Given the description of an element on the screen output the (x, y) to click on. 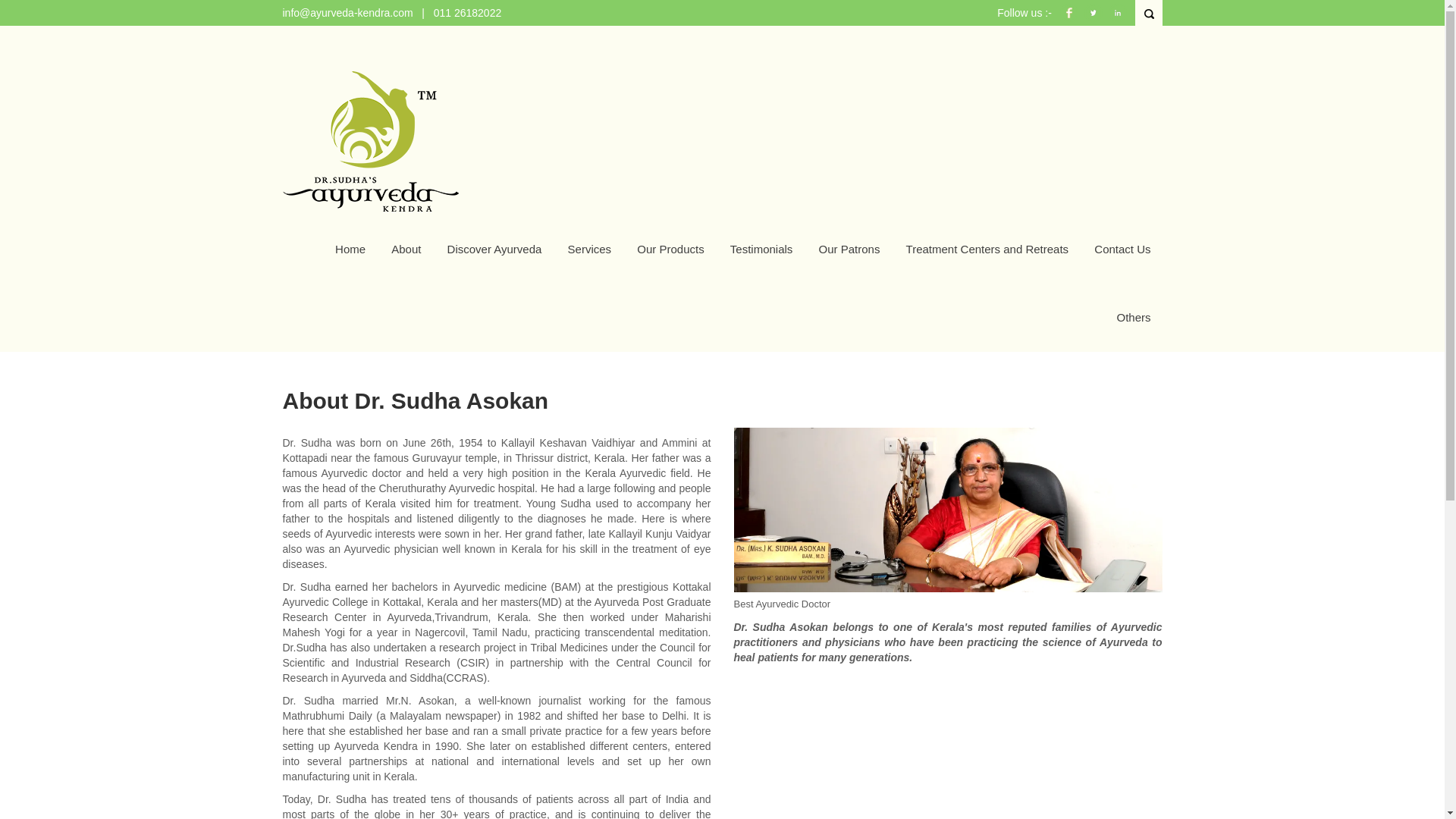
Linkedin (1117, 19)
Services (589, 249)
Twitter (1093, 19)
Facebook (1069, 19)
Discover Ayurveda (494, 249)
